Given the description of an element on the screen output the (x, y) to click on. 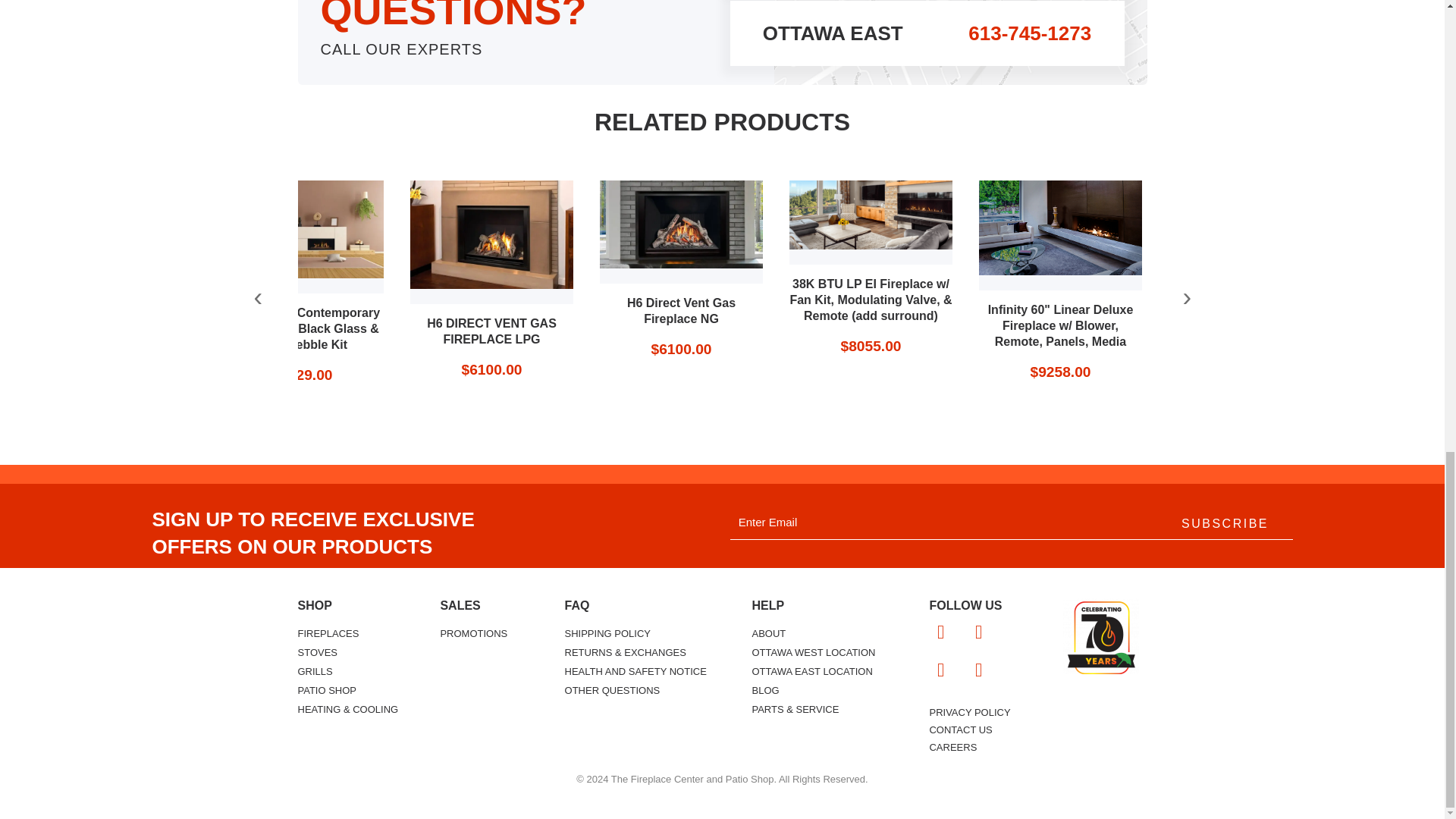
70th-Anniversary (1100, 636)
